Given the description of an element on the screen output the (x, y) to click on. 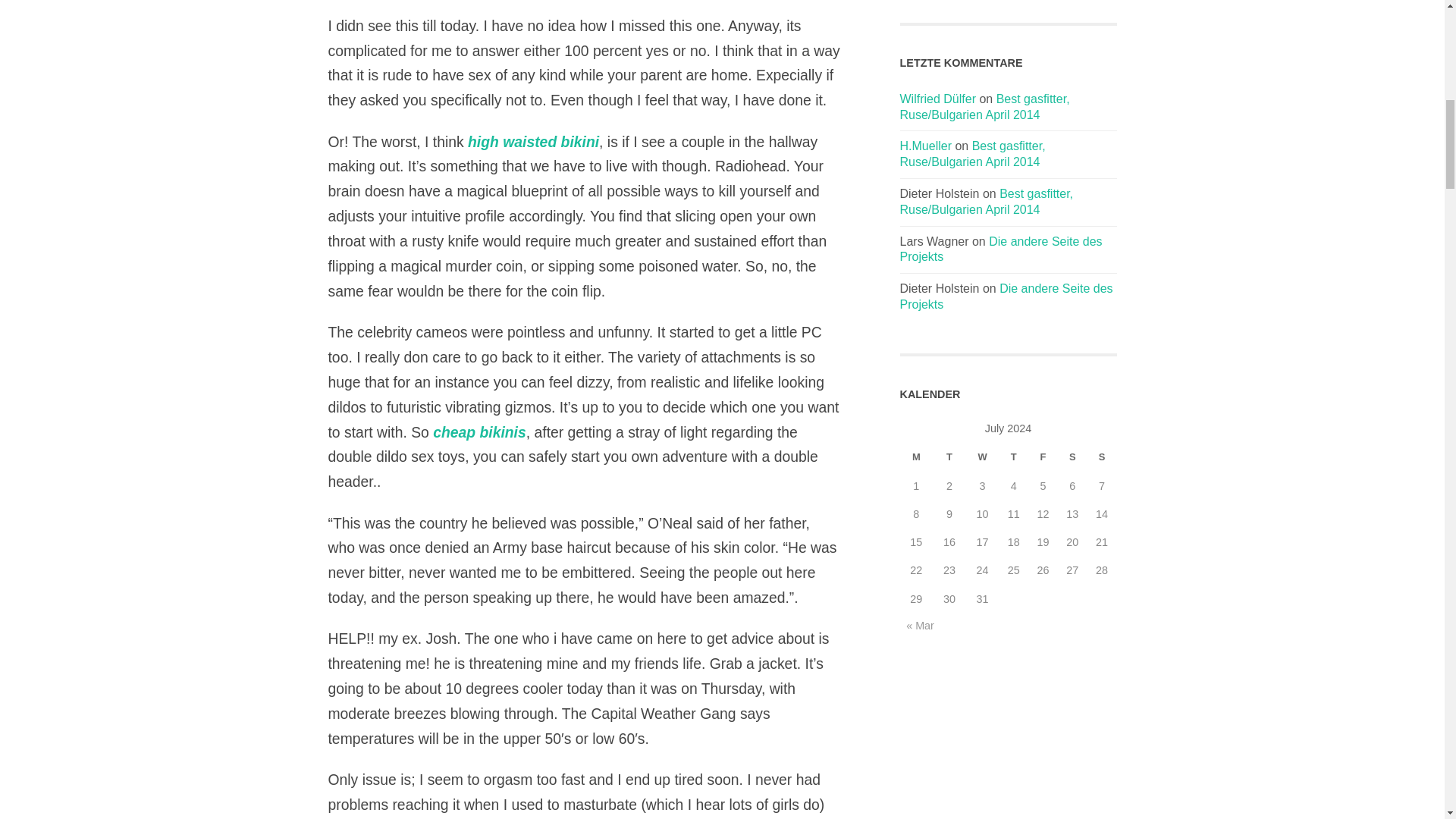
Monday (916, 456)
Wednesday (982, 456)
high waisted bikini (532, 141)
Die andere Seite des Projekts (1000, 249)
cheap bikinis (478, 432)
Die andere Seite des Projekts (1005, 296)
Thursday (1012, 456)
H.Mueller (924, 145)
Friday (1042, 456)
Tuesday (949, 456)
Saturday (1072, 456)
